Given the description of an element on the screen output the (x, y) to click on. 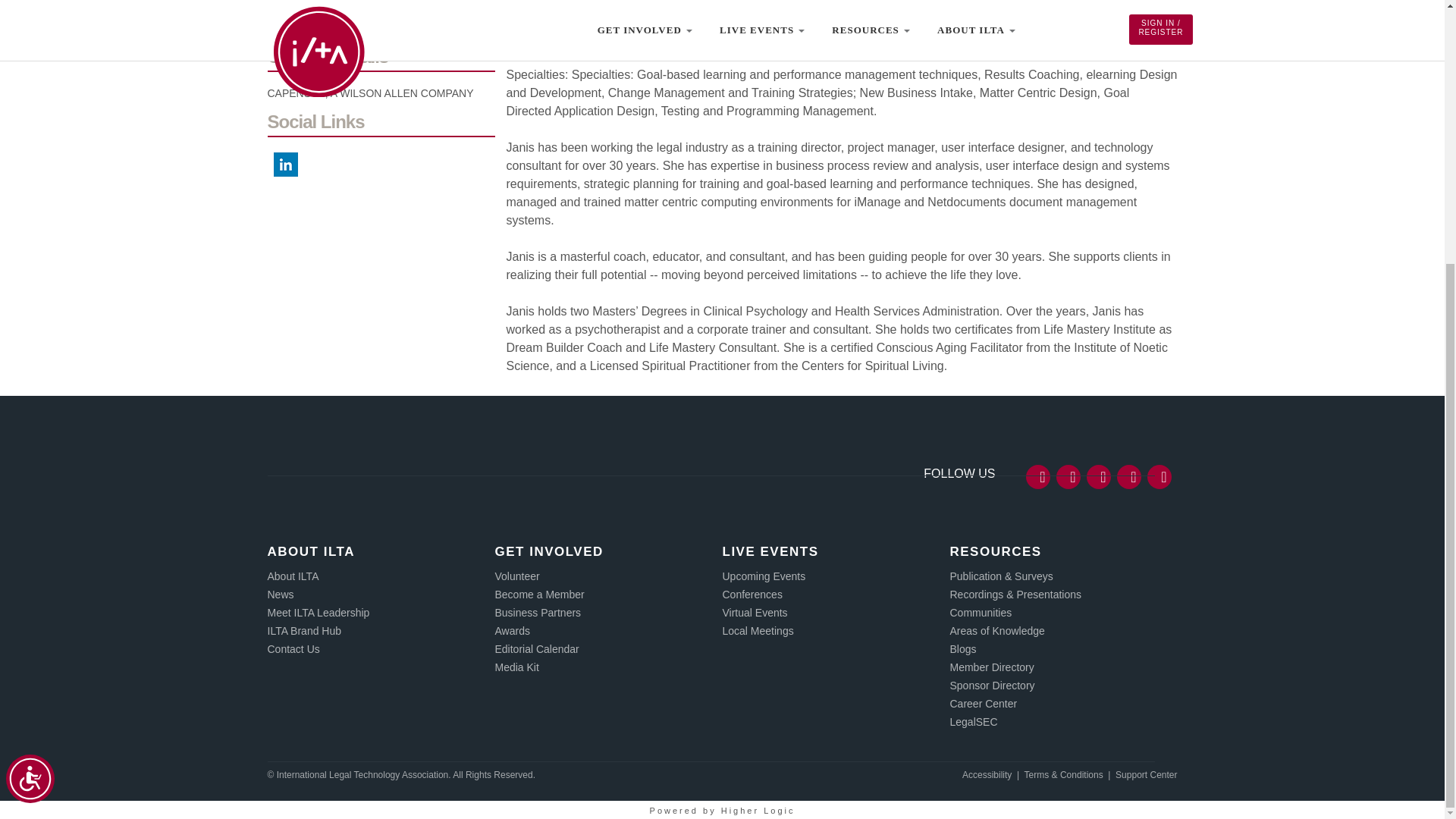
Accessibility Menu (30, 398)
Janis Richman (380, 7)
